Given the description of an element on the screen output the (x, y) to click on. 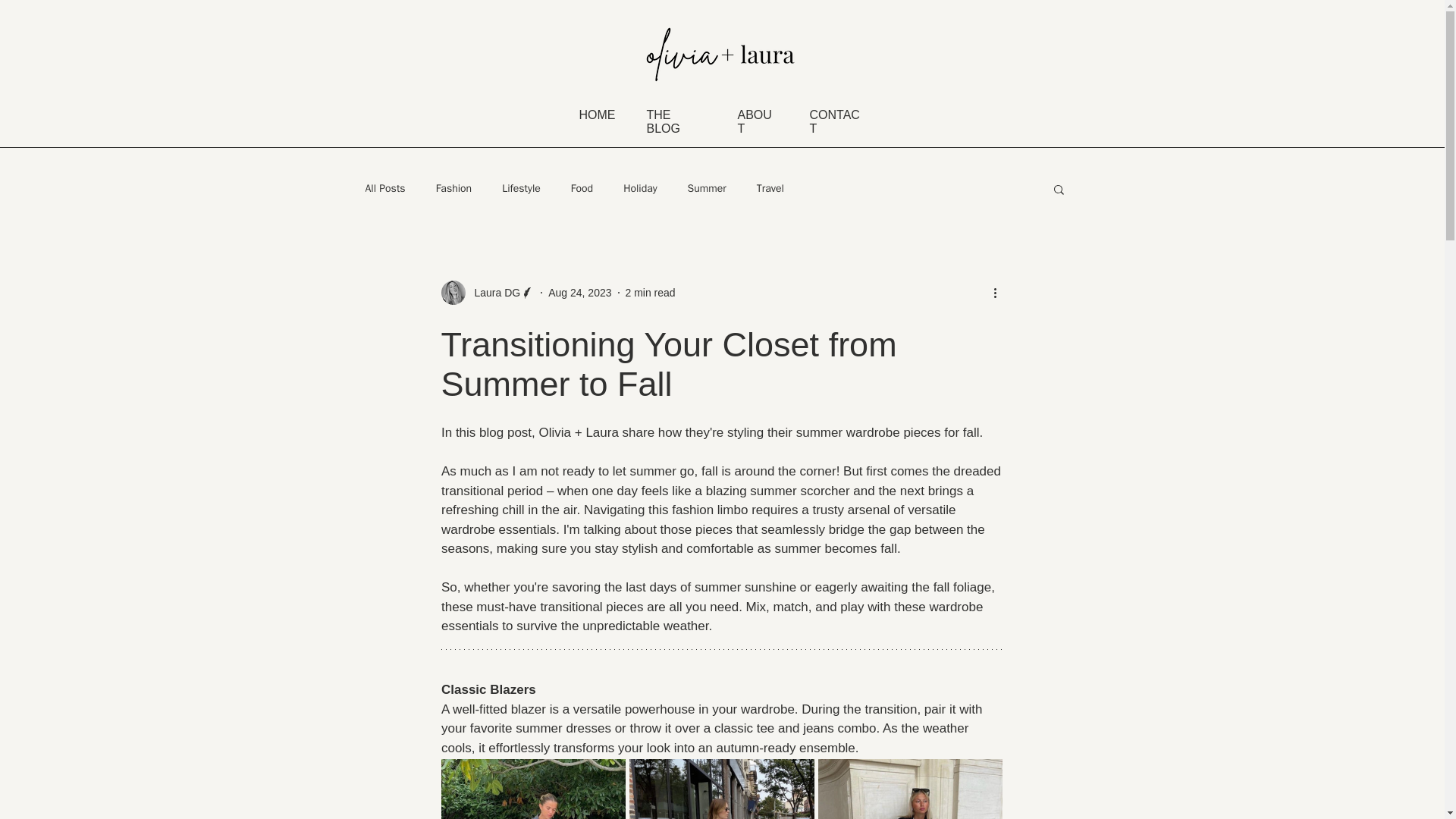
Holiday (639, 188)
HOME (597, 114)
Aug 24, 2023 (579, 292)
All Posts (385, 188)
Laura DG (493, 293)
2 min read (649, 292)
Food (581, 188)
Lifestyle (521, 188)
ABOUT (753, 121)
Summer (706, 188)
